Given the description of an element on the screen output the (x, y) to click on. 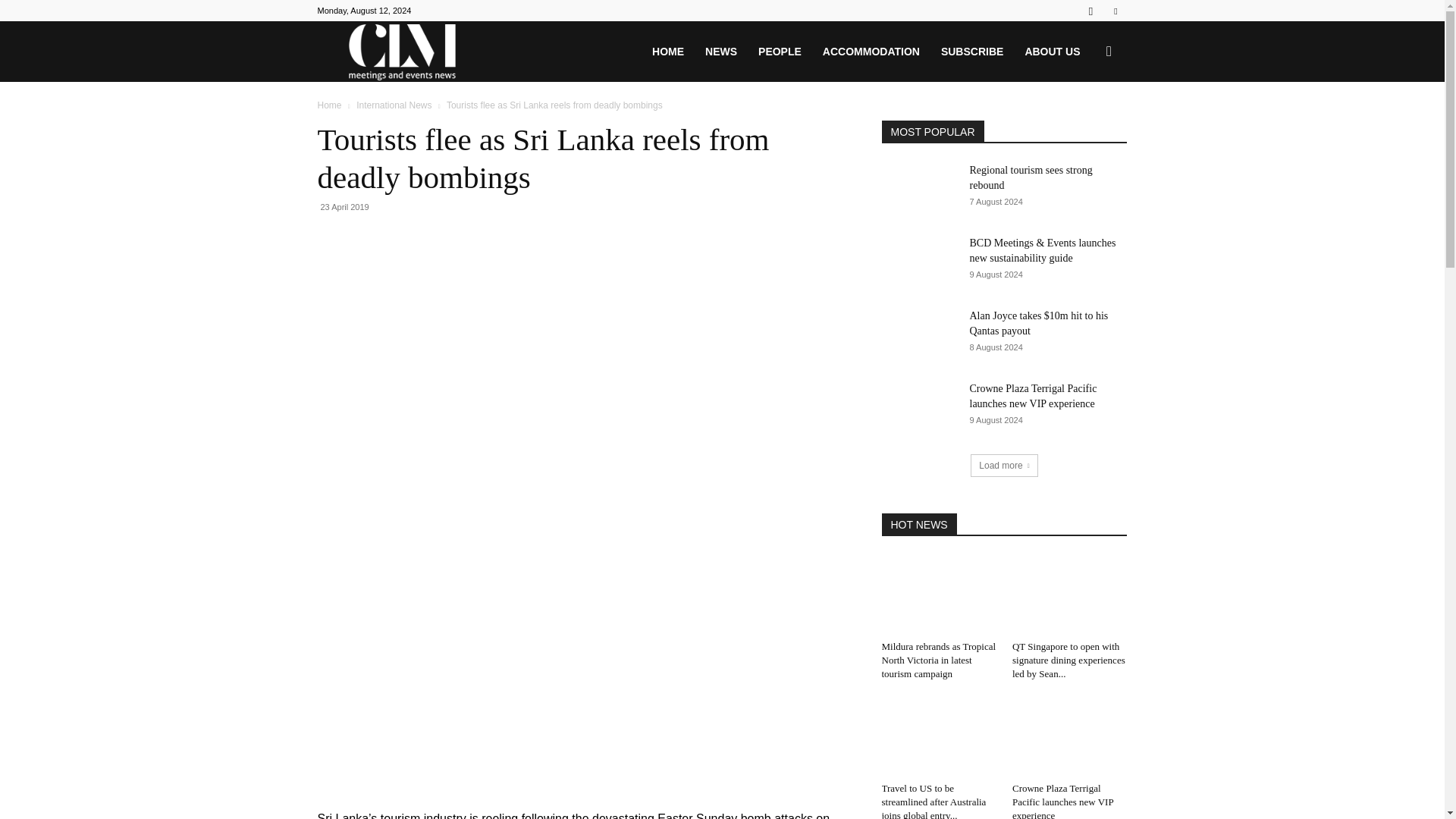
NEWS (721, 51)
ABOUT US (1051, 51)
Instagram (1090, 10)
ACCOMMODATION (871, 51)
CIM (401, 51)
PEOPLE (780, 51)
SUBSCRIBE (971, 51)
Twitter (1114, 10)
Home (328, 104)
Search (1085, 124)
